Given the description of an element on the screen output the (x, y) to click on. 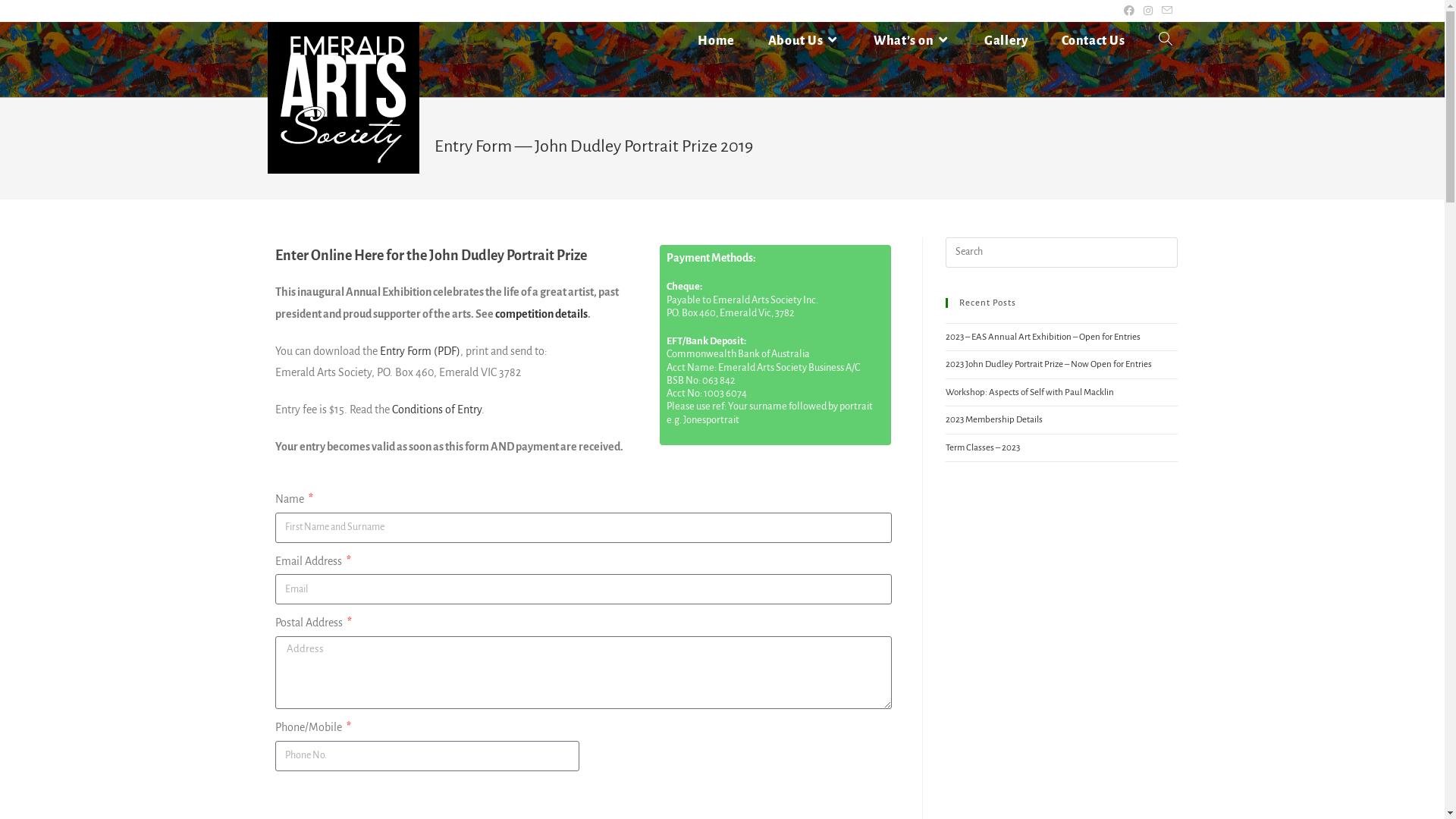
Entry Form (PDF) Element type: text (419, 351)
About Us Element type: text (803, 40)
Conditions of Entry Element type: text (435, 409)
Contact Us Element type: text (1093, 40)
competition details Element type: text (540, 313)
Workshop: Aspects of Self with Paul Macklin Element type: text (1028, 392)
2023 Membership Details Element type: text (992, 419)
Gallery Element type: text (1005, 40)
Home Element type: text (715, 40)
